Given the description of an element on the screen output the (x, y) to click on. 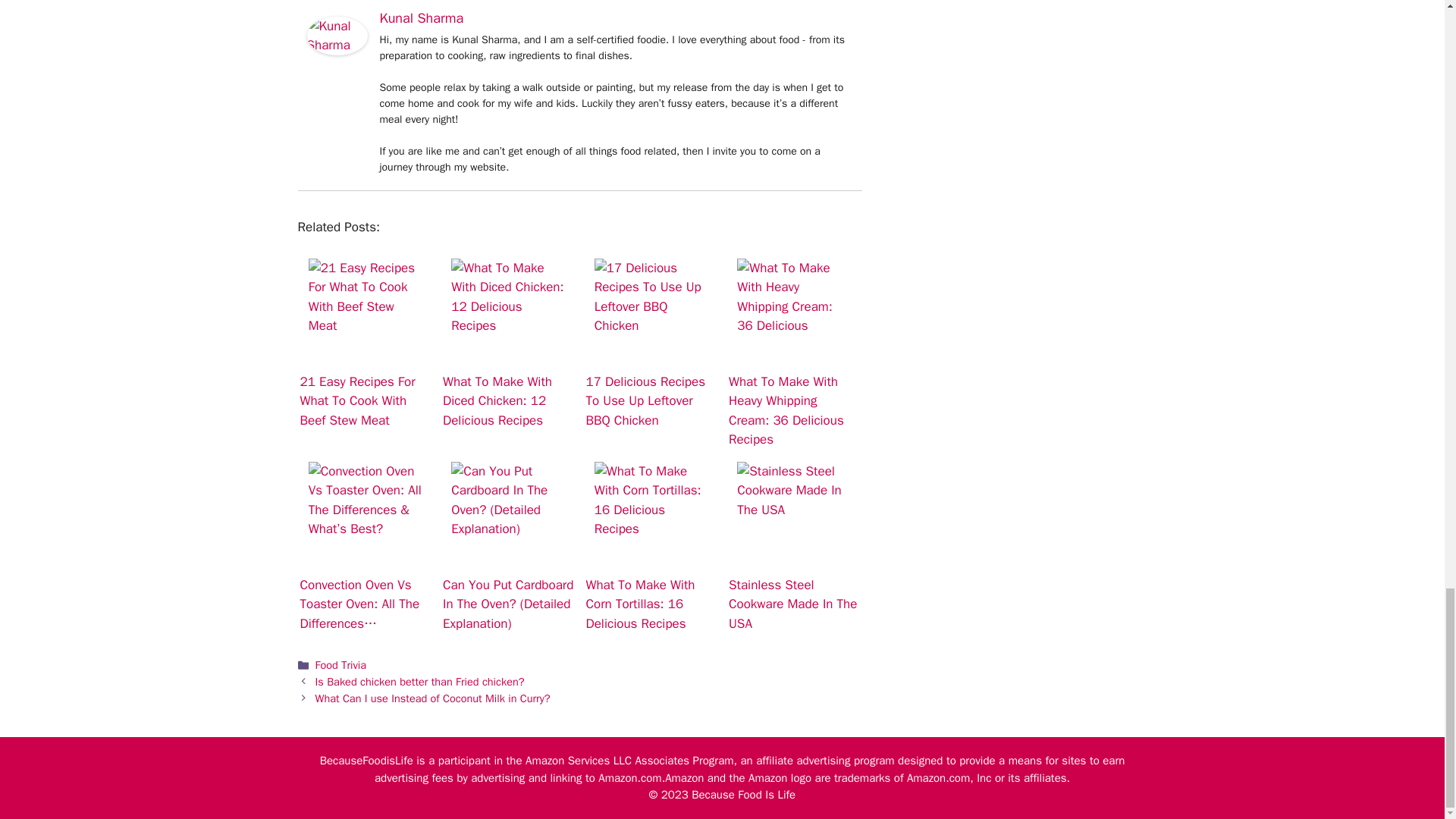
Is Baked chicken better than Fried chicken? (419, 681)
17 Delicious Recipes To Use Up Leftover BBQ Chicken (650, 296)
Food Trivia (340, 664)
What To Make With Heavy Whipping Cream: 36 Delicious Recipes (793, 296)
Kunal Sharma (335, 50)
Kunal Sharma (420, 17)
21 Easy Recipes For What To Cook With Beef Stew Meat (365, 296)
What To Make With Corn Tortillas: 16 Delicious Recipes (650, 499)
What Can I use Instead of Coconut Milk in Curry? (432, 698)
Stainless Steel Cookware Made In The USA (793, 499)
What To Make With Diced Chicken: 12 Delicious Recipes (507, 296)
